Given the description of an element on the screen output the (x, y) to click on. 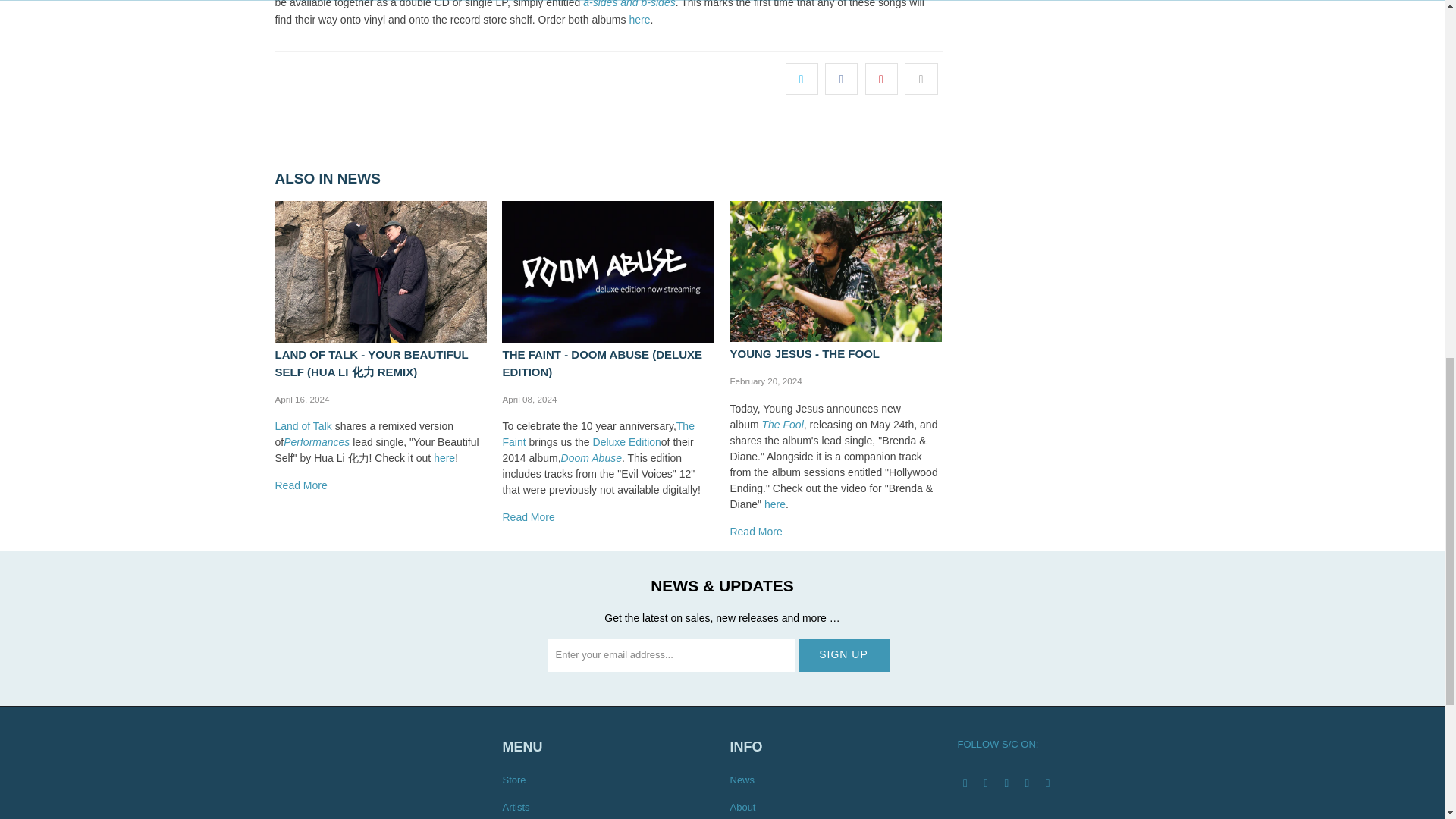
Share this on Facebook (841, 79)
Share this on Pinterest (881, 79)
Email this to a friend (920, 79)
Sign Up (842, 654)
Share this on Twitter (802, 79)
Adrianne Lenker - album bundle (638, 19)
